Given the description of an element on the screen output the (x, y) to click on. 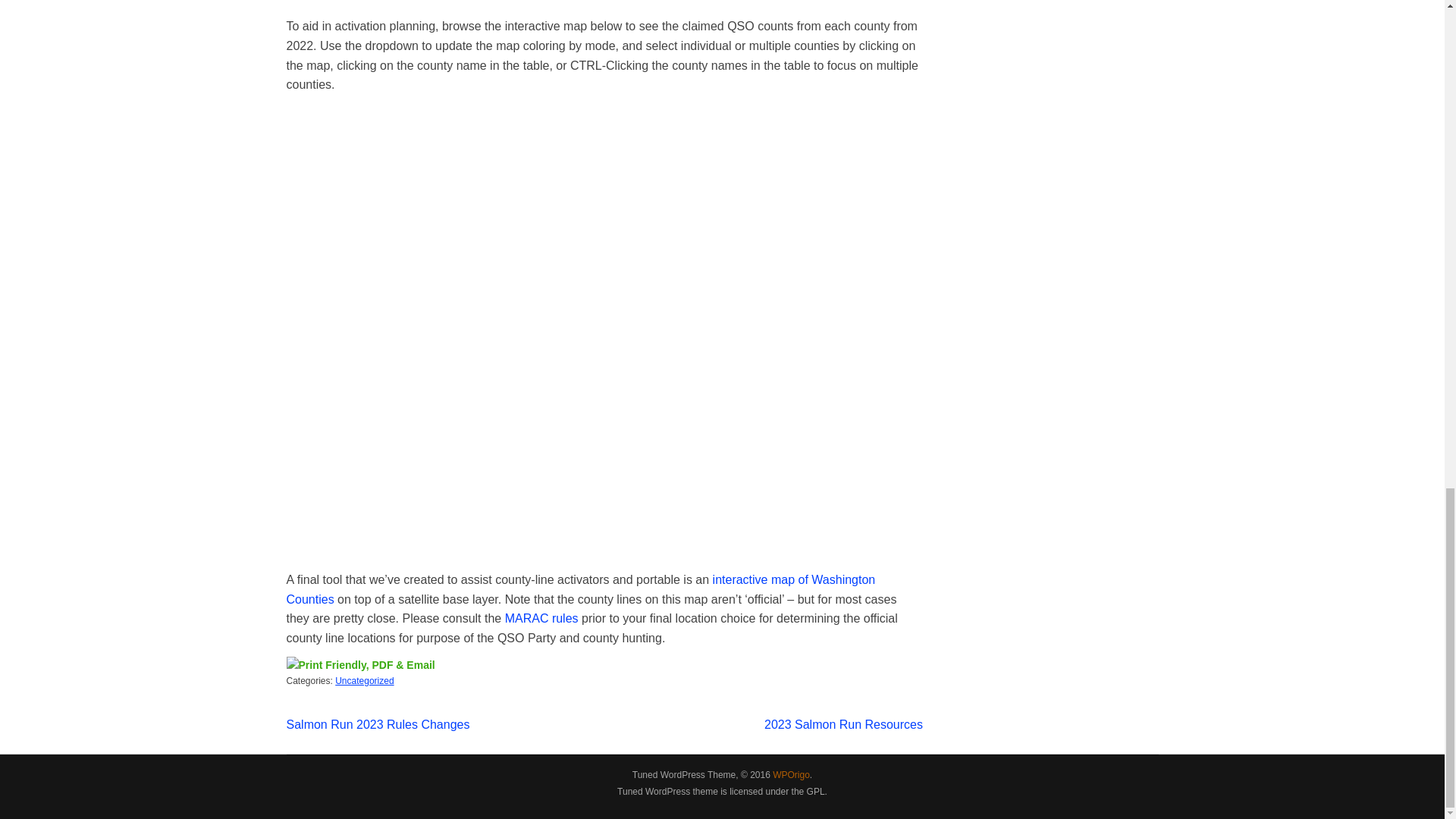
2023 Salmon Run Resources (843, 724)
Uncategorized (363, 680)
WPOrigo (791, 774)
MARAC rules (541, 617)
interactive map of Washington Counties (581, 589)
Salmon Run 2023 Rules Changes (378, 724)
